Given the description of an element on the screen output the (x, y) to click on. 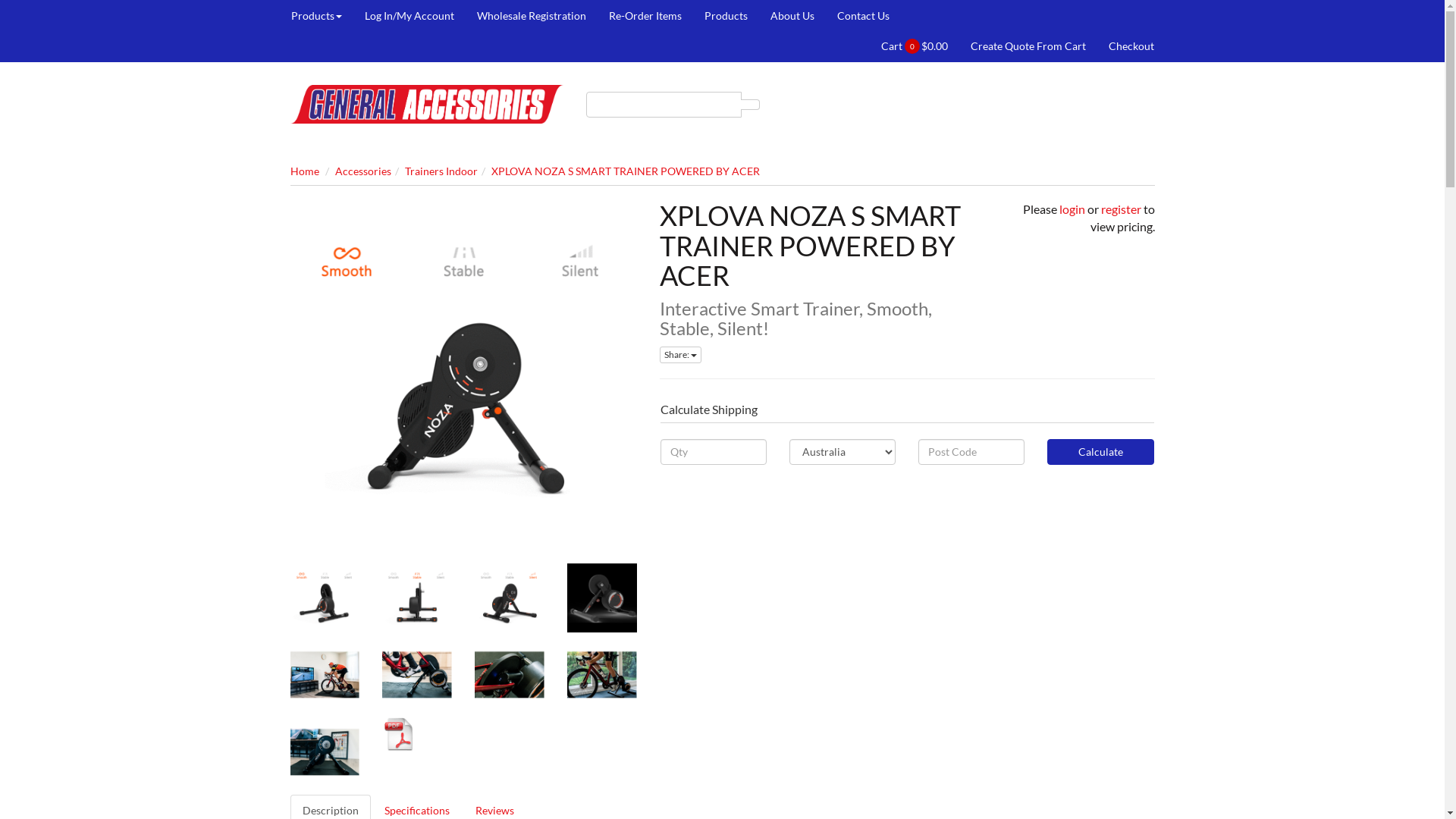
Products Element type: text (322, 15)
Large View Element type: hover (324, 598)
Home Element type: text (303, 170)
register Element type: text (1121, 208)
Log In/My Account Element type: text (409, 15)
Checkout Element type: text (1124, 46)
XPLOVA NOZA S SMART TRAINER POWERED BY ACER Element type: text (625, 170)
Search Element type: text (749, 104)
Cart 0 $0.00 Element type: text (920, 46)
login Element type: text (1071, 208)
Large View Element type: hover (602, 598)
Large View Element type: hover (509, 598)
Create Quote From Cart Element type: text (1027, 46)
Large View Element type: hover (509, 674)
About Us Element type: text (791, 15)
Large View Element type: hover (416, 598)
General Accessories (GENACS) Element type: hover (425, 102)
Calculate Element type: text (1100, 451)
Wholesale Registration Element type: text (531, 15)
Large View Element type: hover (324, 674)
Large View Element type: hover (416, 674)
Large View Element type: hover (324, 752)
Products Element type: text (726, 15)
Contact Us Element type: text (856, 15)
Re-Order Items Element type: text (645, 15)
Accessories Element type: text (363, 170)
Large View Element type: hover (602, 674)
Share: Element type: text (680, 354)
Trainers Indoor Element type: text (440, 170)
